Given the description of an element on the screen output the (x, y) to click on. 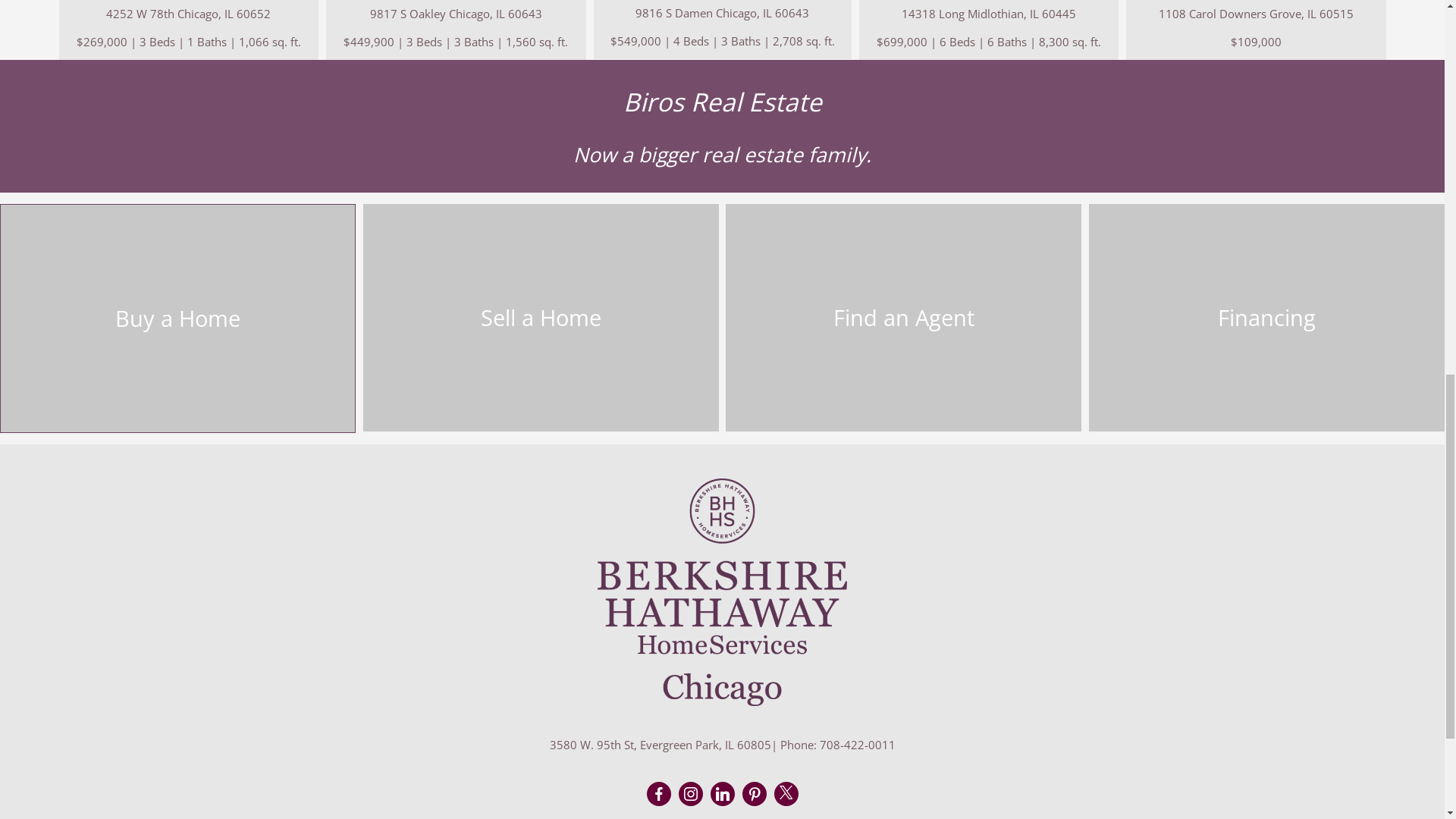
Visit us on Pinterest (754, 793)
Visit us on LinkedIn (722, 793)
Visit us on Instagram (690, 793)
Visit us on Facebook (658, 793)
